Given the description of an element on the screen output the (x, y) to click on. 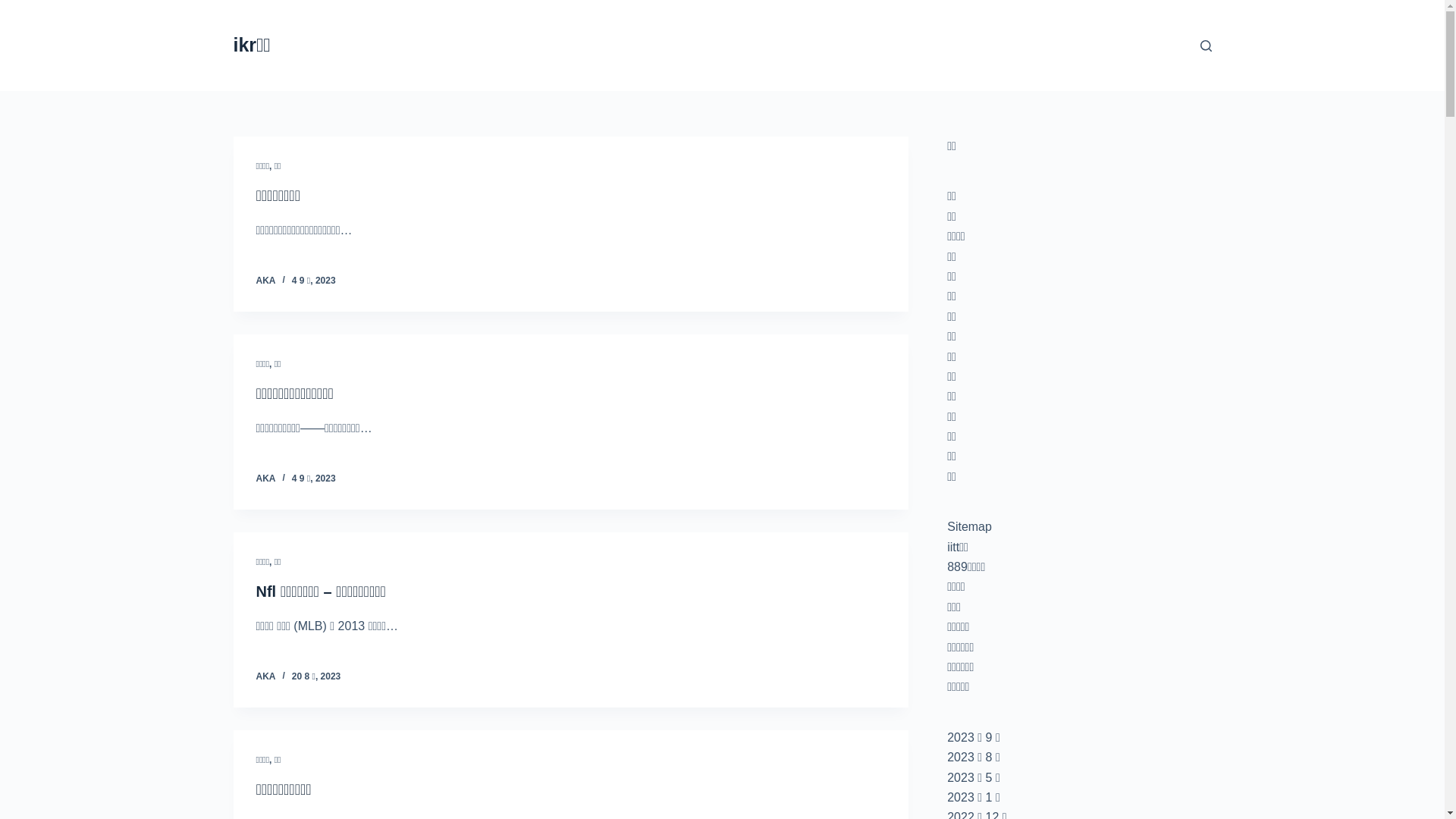
AKA Element type: text (266, 478)
AKA Element type: text (266, 280)
Sitemap Element type: text (969, 526)
AKA Element type: text (266, 676)
